Given the description of an element on the screen output the (x, y) to click on. 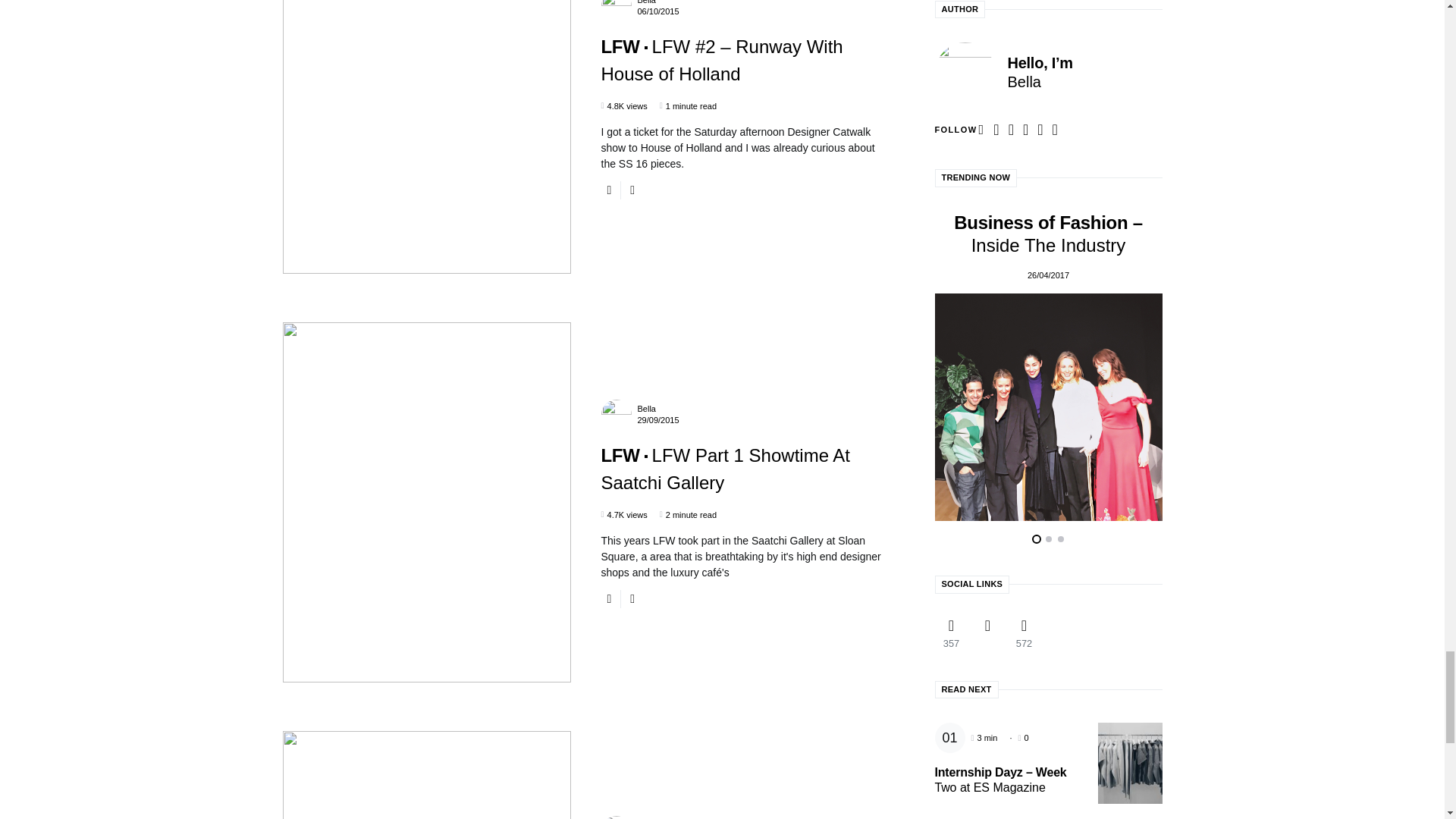
LFW Part 1 Showtime At Saatchi Gallery (724, 468)
